Given the description of an element on the screen output the (x, y) to click on. 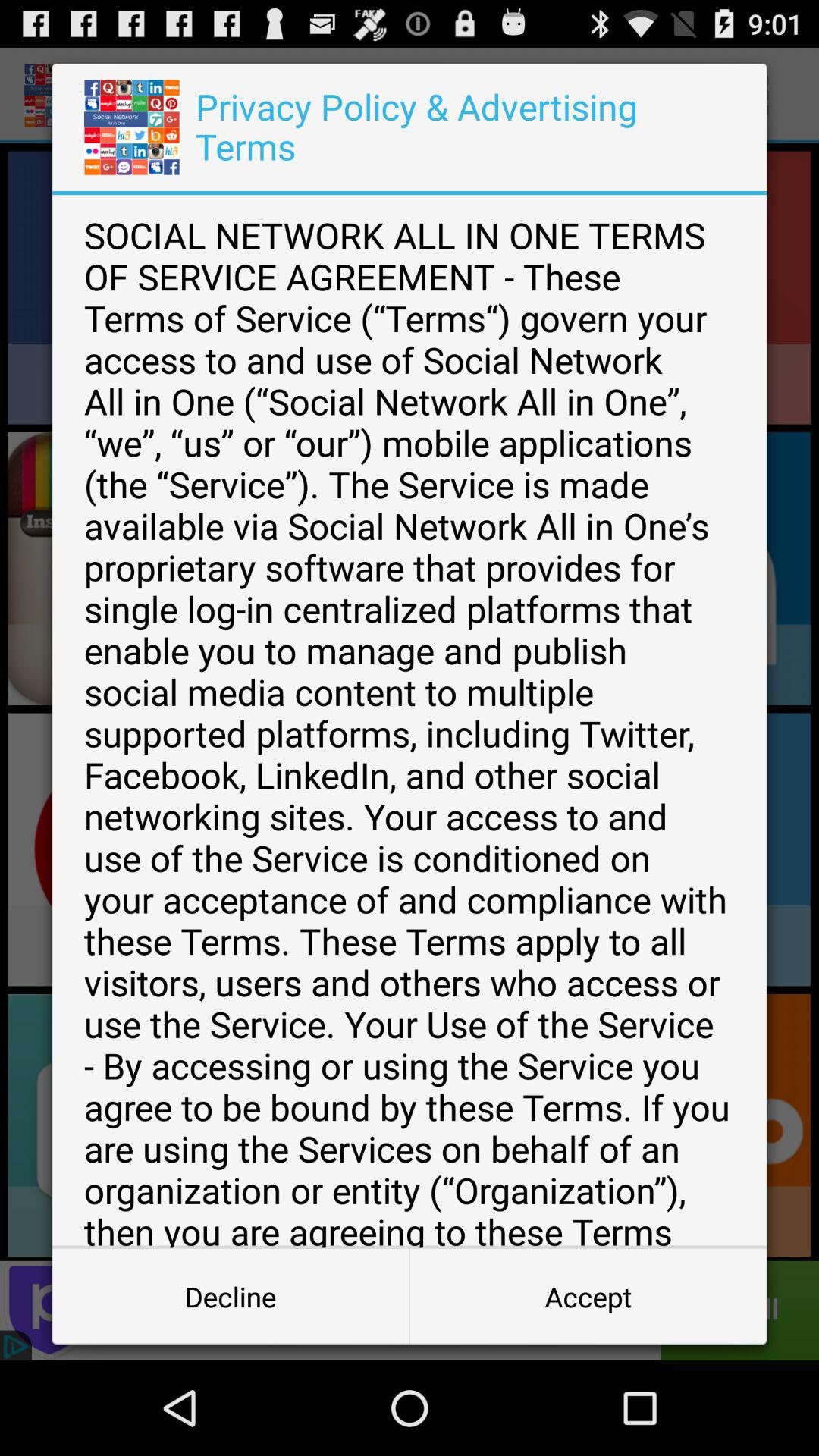
click the item at the center (409, 721)
